Given the description of an element on the screen output the (x, y) to click on. 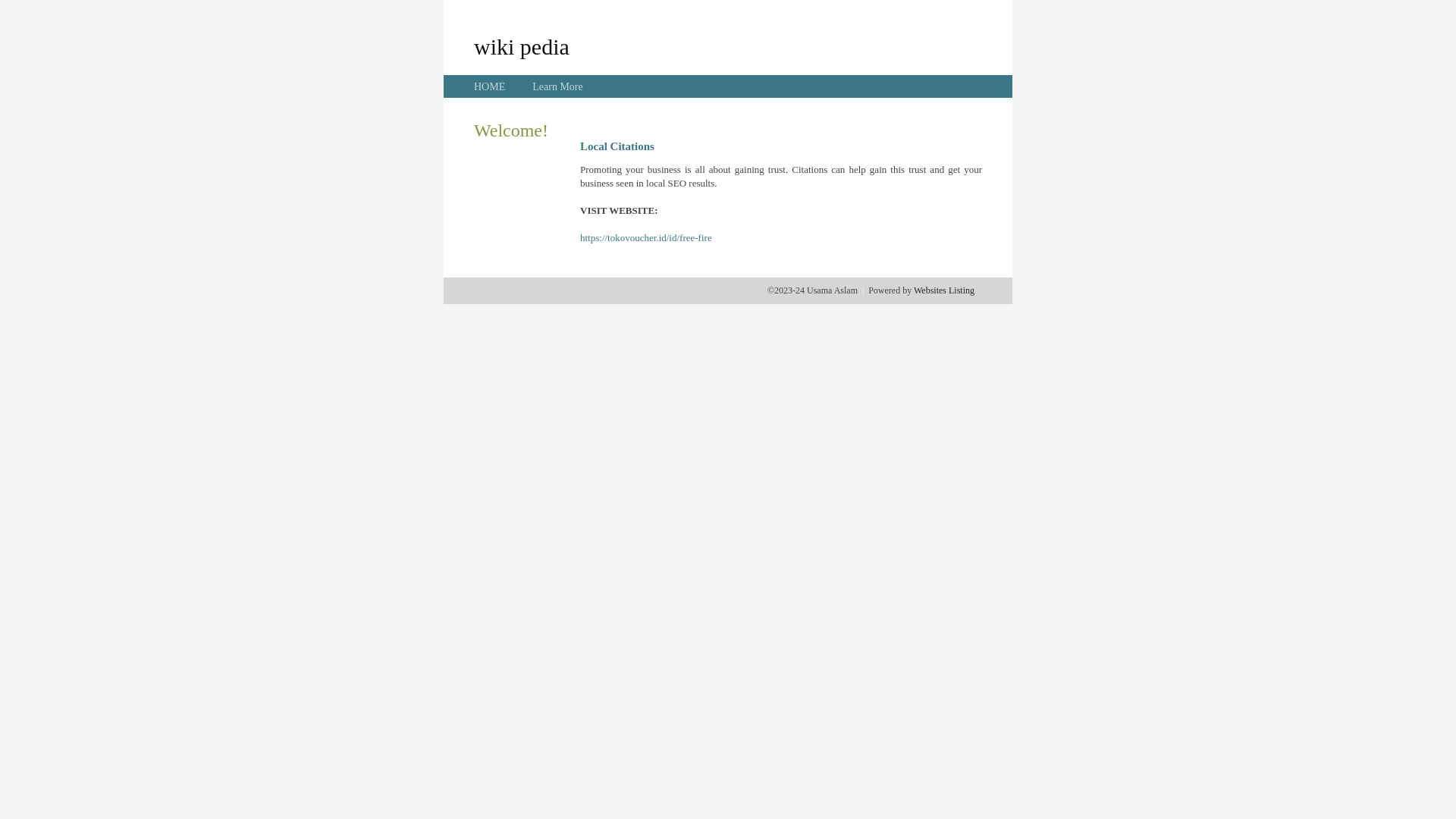
Websites Listing Element type: text (943, 290)
Learn More Element type: text (557, 86)
https://tokovoucher.id/id/free-fire Element type: text (646, 237)
wiki pedia Element type: text (521, 46)
HOME Element type: text (489, 86)
